Given the description of an element on the screen output the (x, y) to click on. 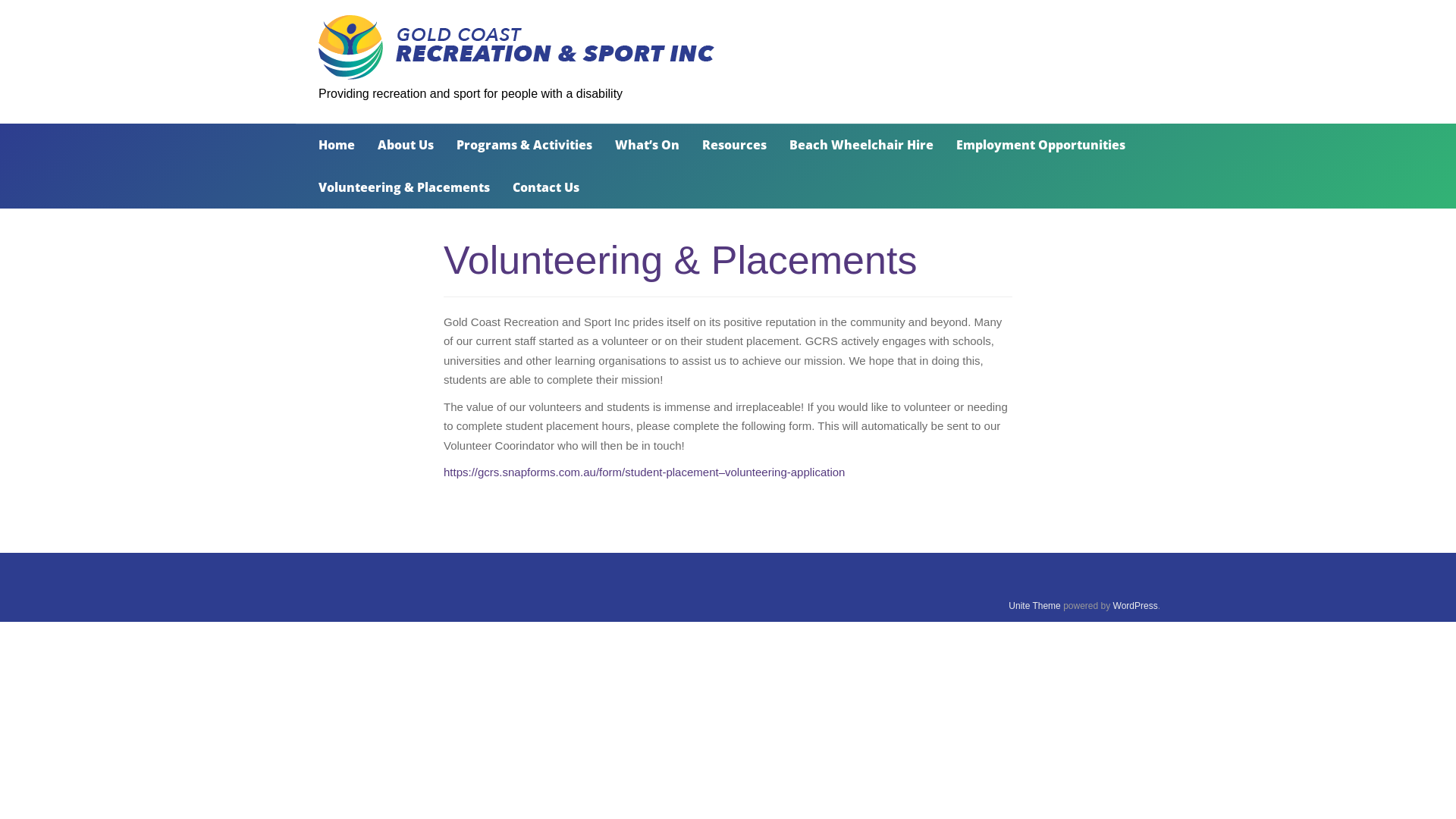
Programs & Activities Element type: text (524, 144)
Unite Theme Element type: text (1034, 605)
Volunteering & Placements Element type: text (404, 187)
About Us Element type: text (405, 144)
Home Element type: text (336, 144)
Employment Opportunities Element type: text (1040, 144)
WordPress Element type: text (1135, 605)
Resources Element type: text (734, 144)
Contact Us Element type: text (545, 187)
Beach Wheelchair Hire Element type: text (861, 144)
